Given the description of an element on the screen output the (x, y) to click on. 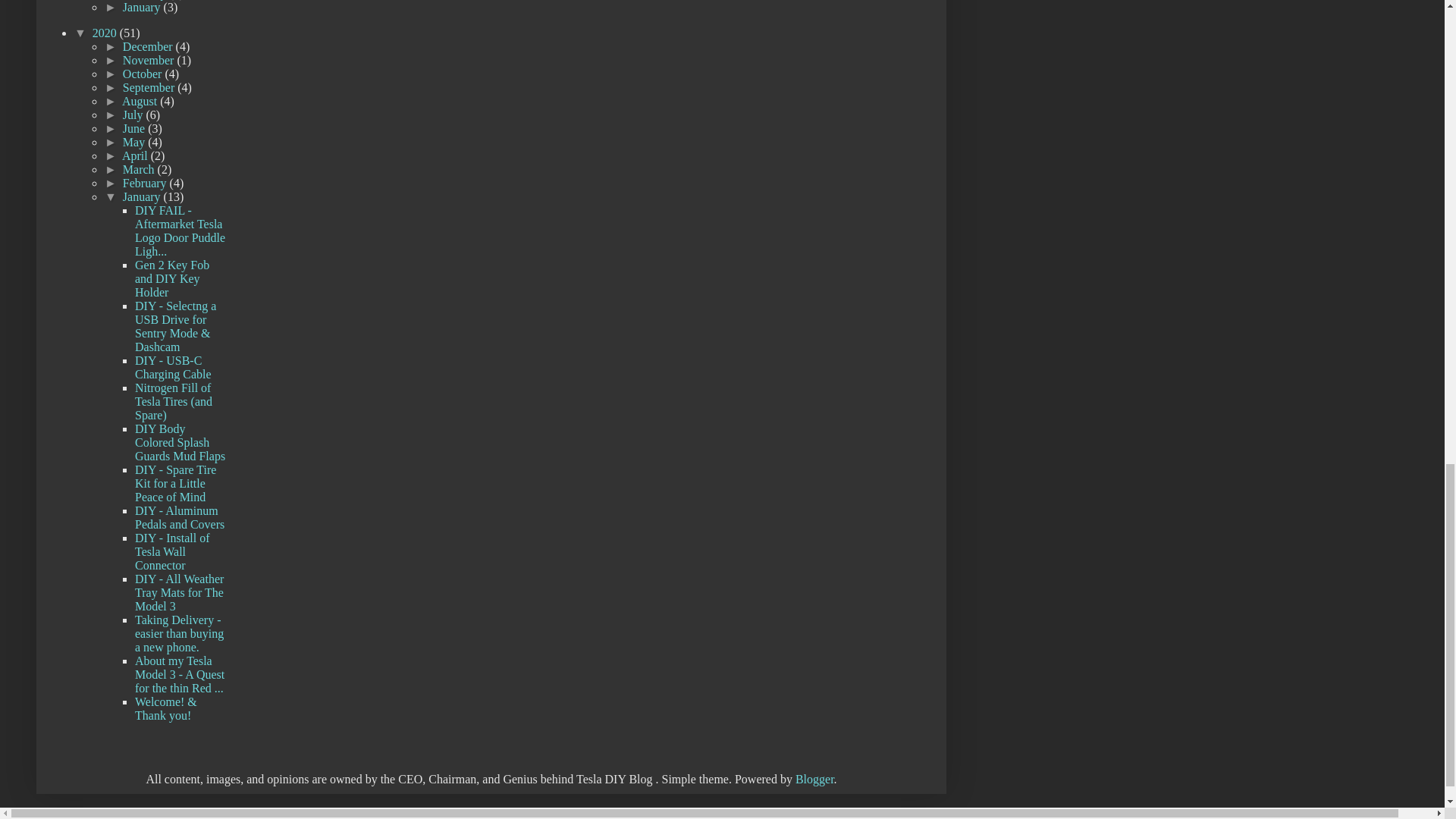
2020 (106, 32)
August (141, 101)
January (142, 6)
December (149, 46)
September (149, 87)
November (149, 60)
October (143, 73)
July (134, 114)
